Given the description of an element on the screen output the (x, y) to click on. 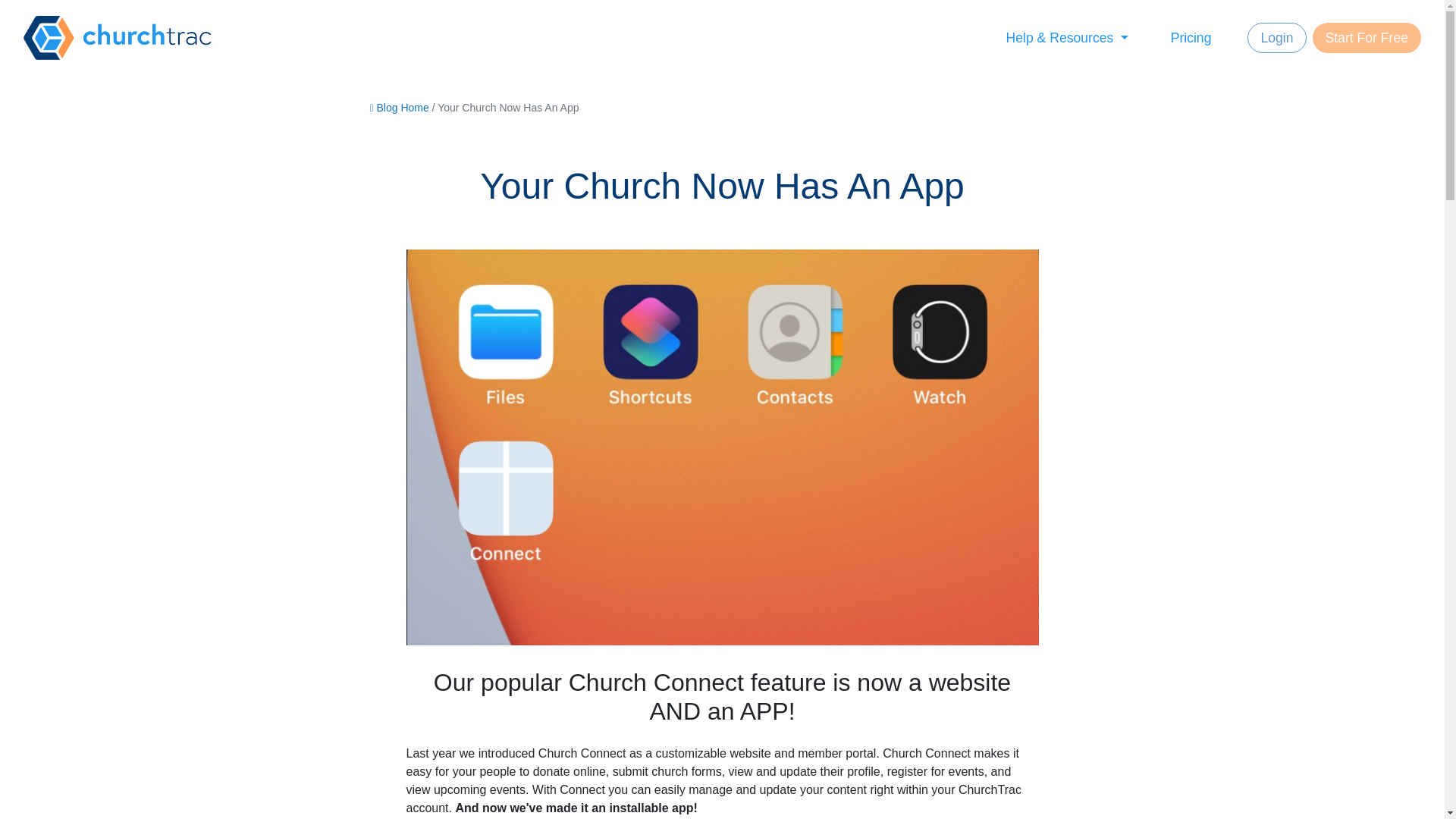
Pricing (1205, 38)
 Blog Home (399, 107)
Login (1279, 37)
Login (1276, 37)
Start For Free (1366, 37)
